Given the description of an element on the screen output the (x, y) to click on. 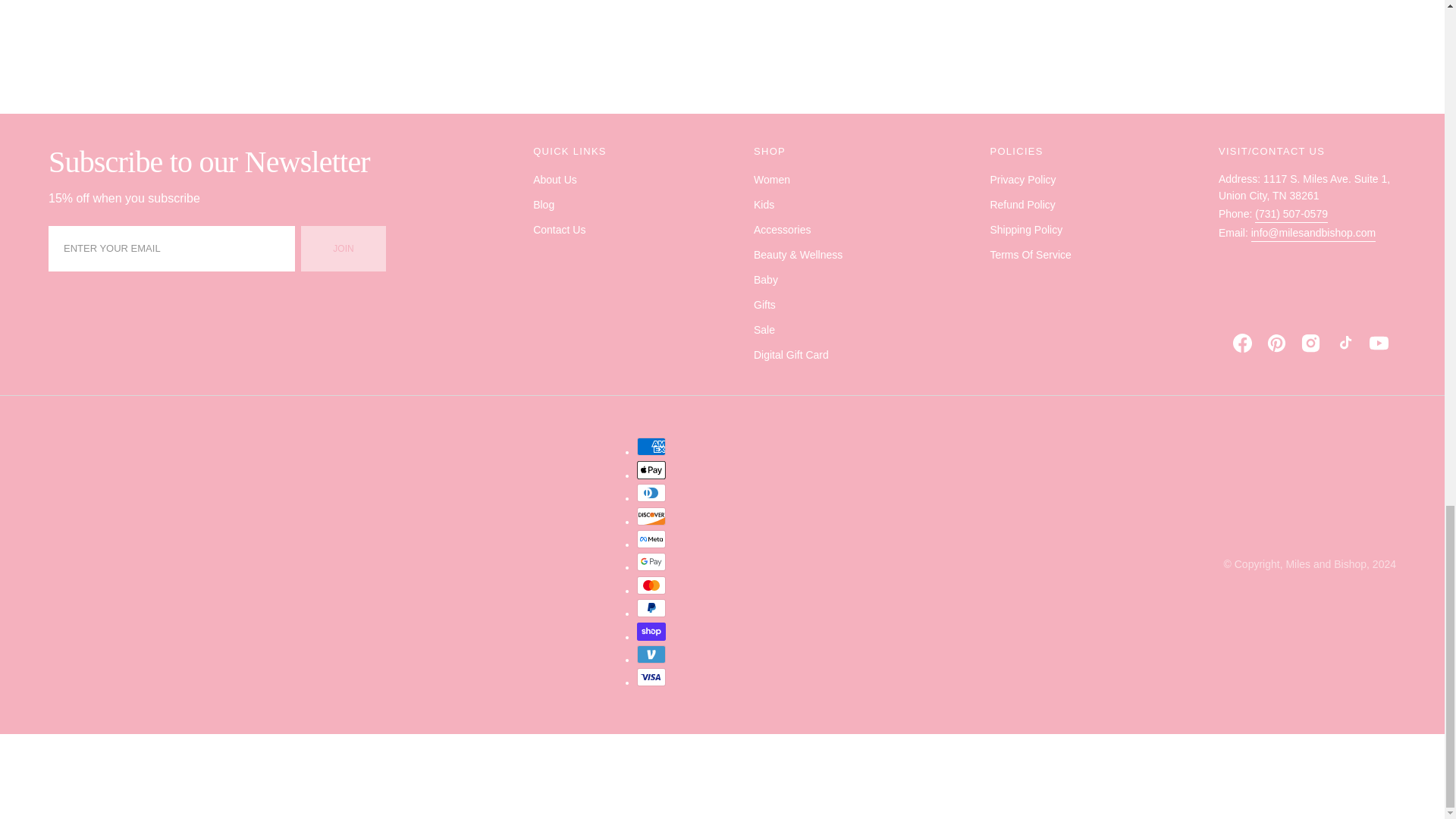
Apple Pay (651, 470)
Visa (651, 677)
PayPal (651, 607)
tel:17315070579 (1291, 213)
Diners Club (651, 493)
Mastercard (651, 585)
American Express (651, 446)
Google Pay (651, 561)
Shop Pay (651, 631)
Meta Pay (651, 538)
